Given the description of an element on the screen output the (x, y) to click on. 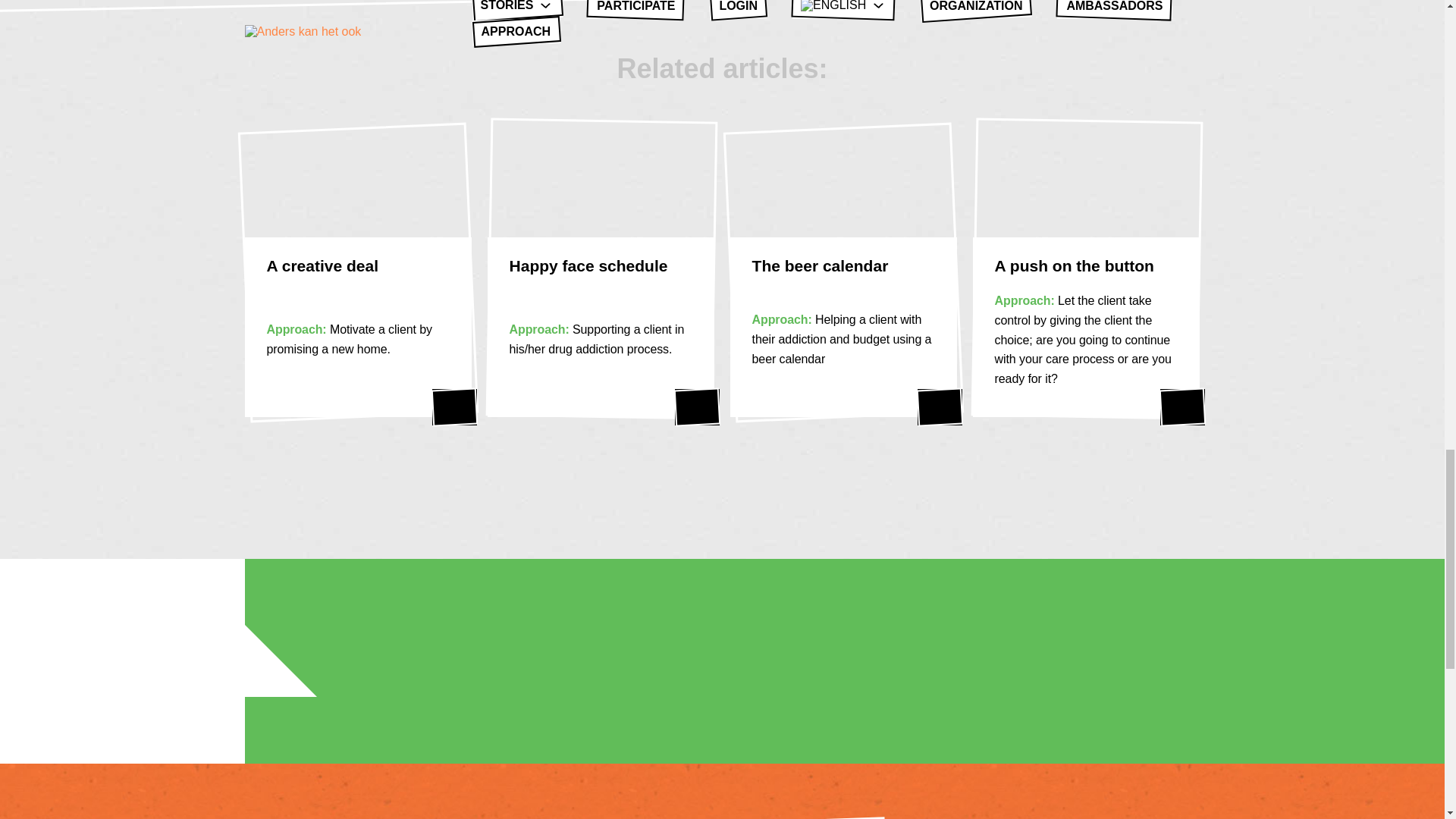
A creative deal (454, 407)
Happy face schedule (697, 407)
The beer calendar (939, 407)
A push on the button (1182, 407)
